Given the description of an element on the screen output the (x, y) to click on. 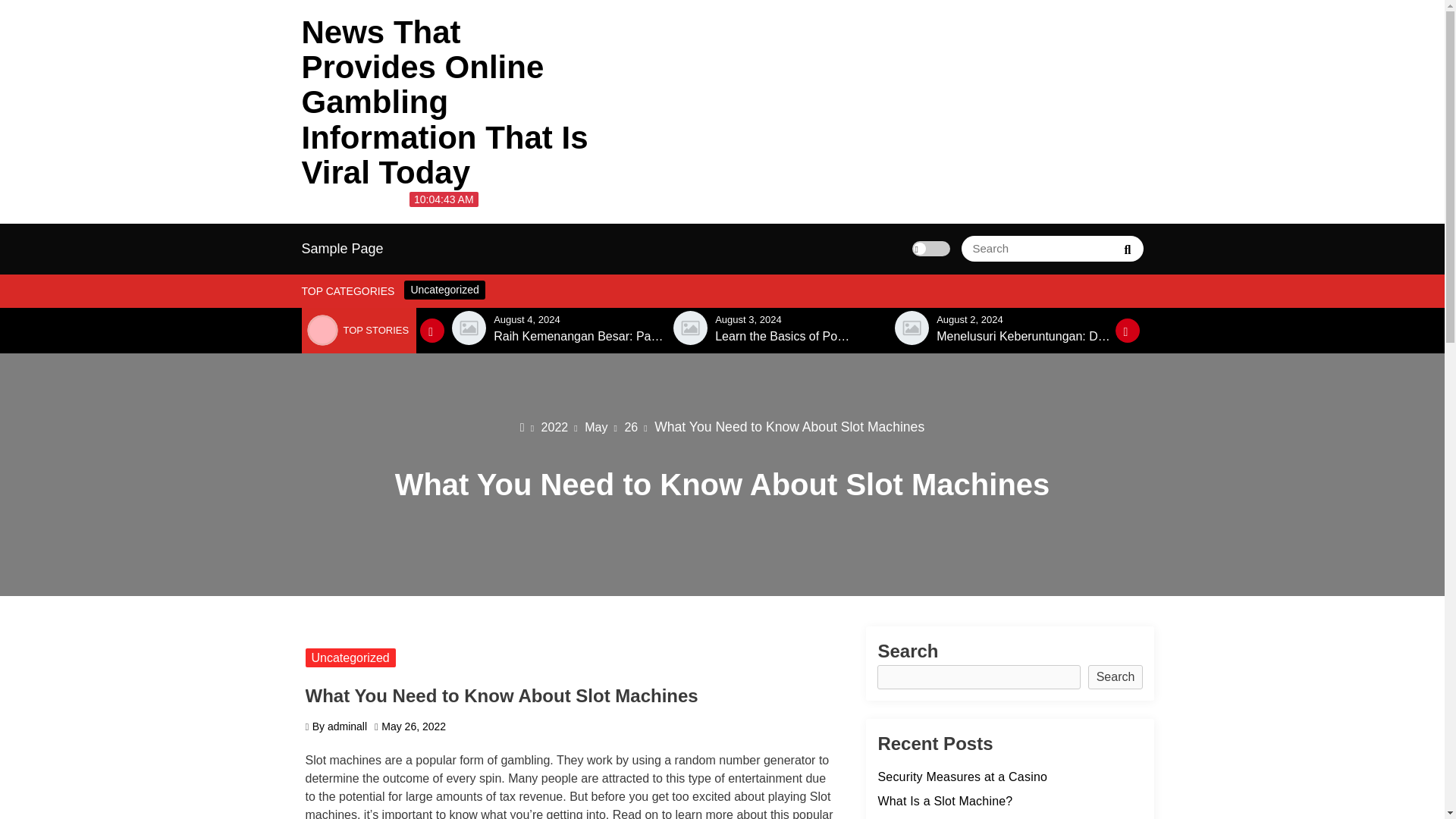
August 3, 2024 (747, 319)
Search (1127, 248)
August 4, 2024 (526, 319)
Learn the Basics of Poker (783, 336)
Sample Page (342, 248)
August 2, 2024 (969, 319)
Uncategorized (444, 289)
